Given the description of an element on the screen output the (x, y) to click on. 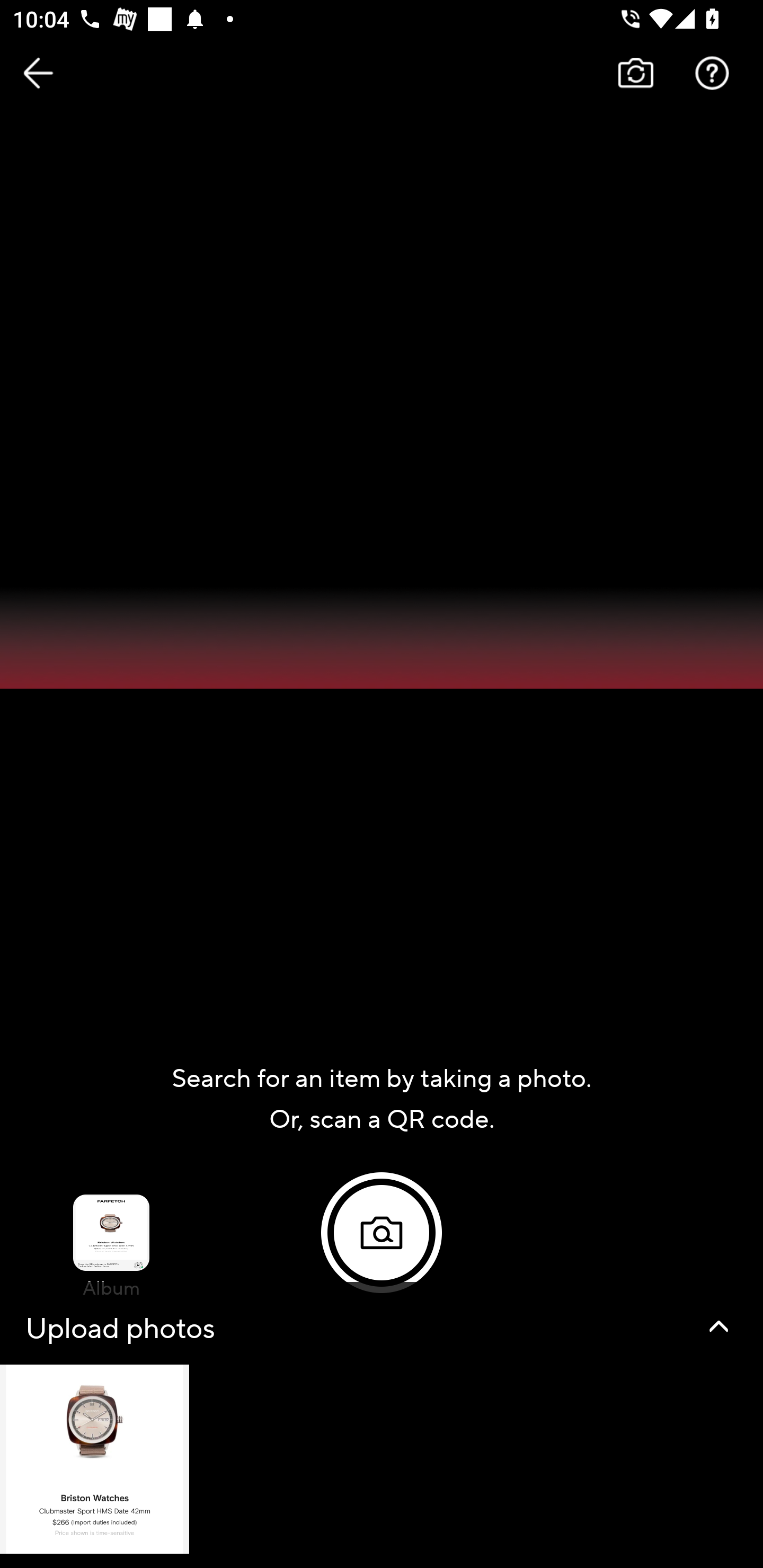
Upload photos  (381, 1425)
 (718, 1326)
